Given the description of an element on the screen output the (x, y) to click on. 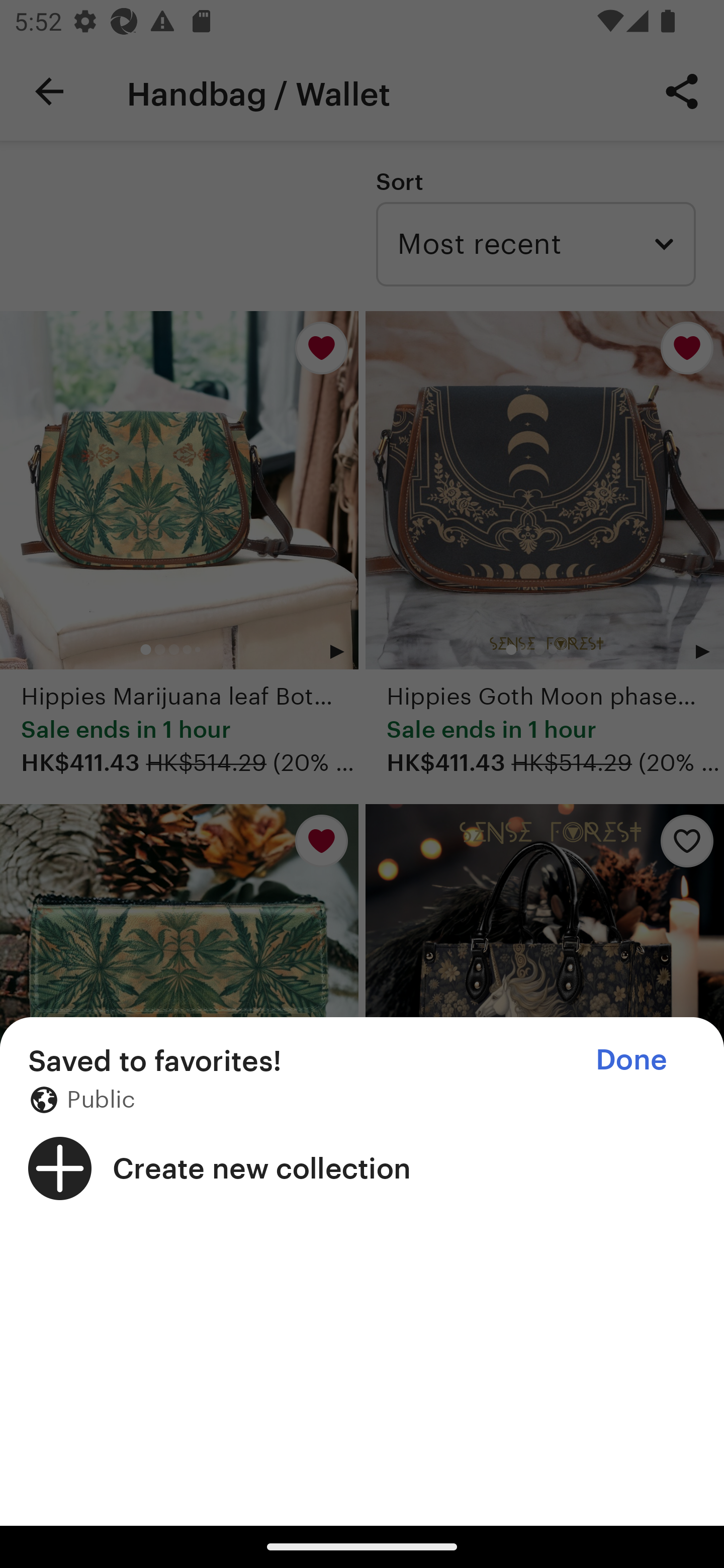
Done (630, 1059)
Create new collection (361, 1167)
